Given the description of an element on the screen output the (x, y) to click on. 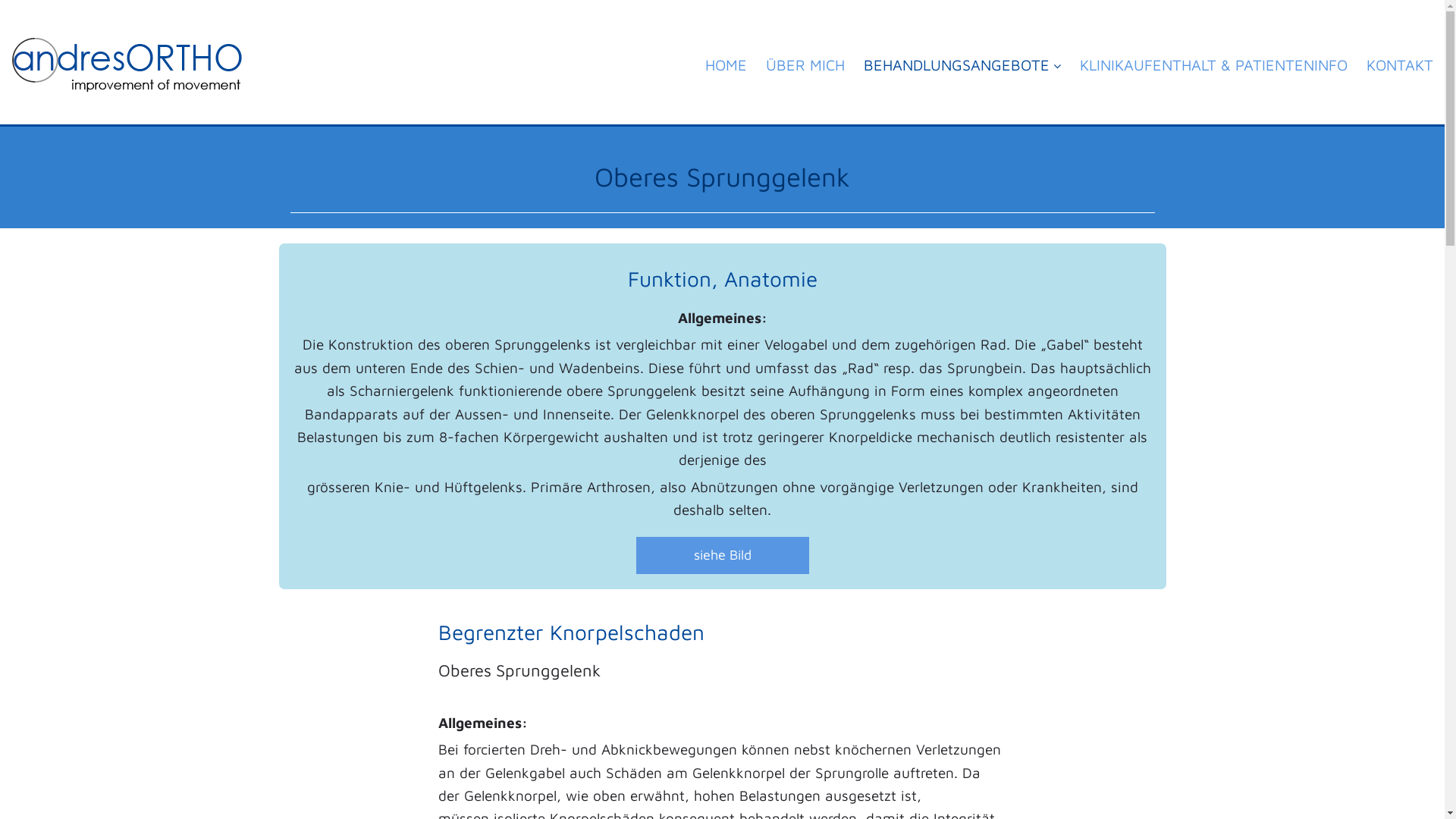
KONTAKT Element type: text (1399, 72)
KLINIKAUFENTHALT & PATIENTENINFO Element type: text (1213, 72)
siehe Bild Element type: text (721, 555)
HOME Element type: text (725, 72)
BEHANDLUNGSANGEBOTE Element type: text (961, 72)
